Given the description of an element on the screen output the (x, y) to click on. 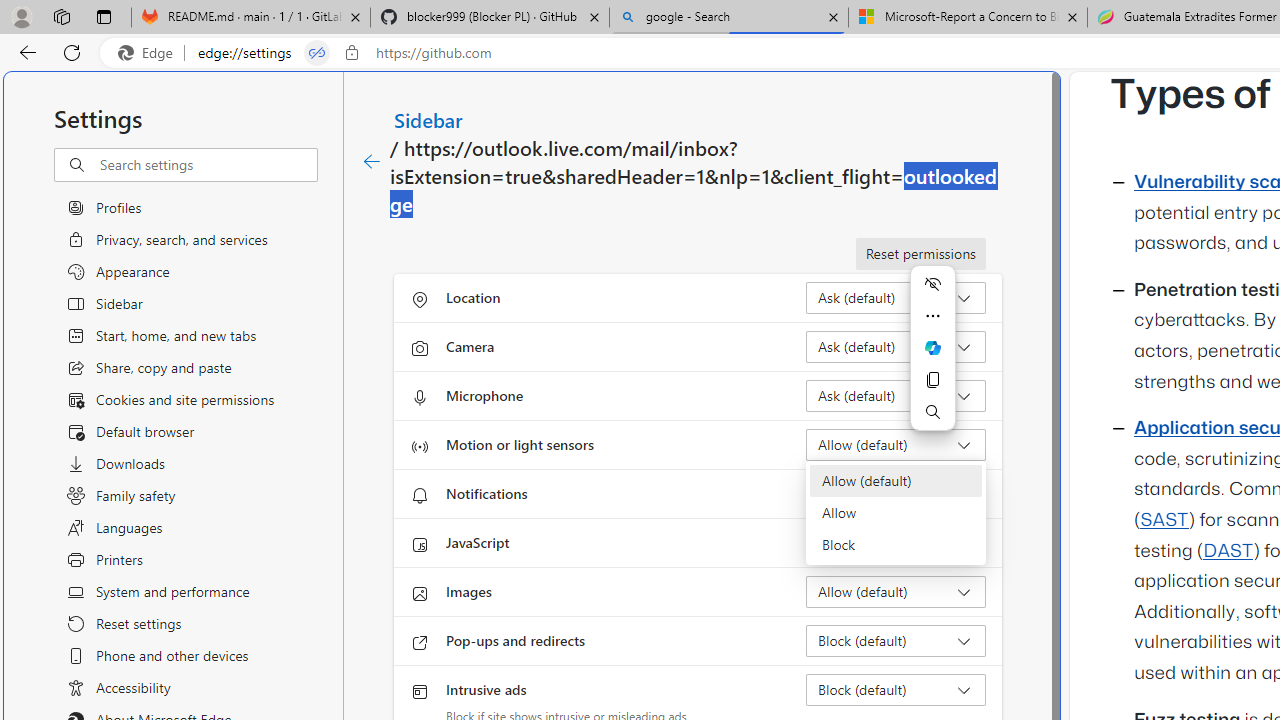
DAST (1228, 551)
Mini menu on text selection (932, 359)
JavaScript Allow (default) (895, 542)
Copy (932, 380)
View site information (351, 53)
Reset permissions (920, 254)
SAST (1164, 520)
Allow (default) (895, 480)
Tab actions menu (104, 16)
Sidebar (429, 119)
Workspaces (61, 16)
Tabs in split screen (317, 53)
Intrusive ads Block (default) (895, 689)
Images Allow (default) (895, 591)
Location Ask (default) (895, 297)
